Given the description of an element on the screen output the (x, y) to click on. 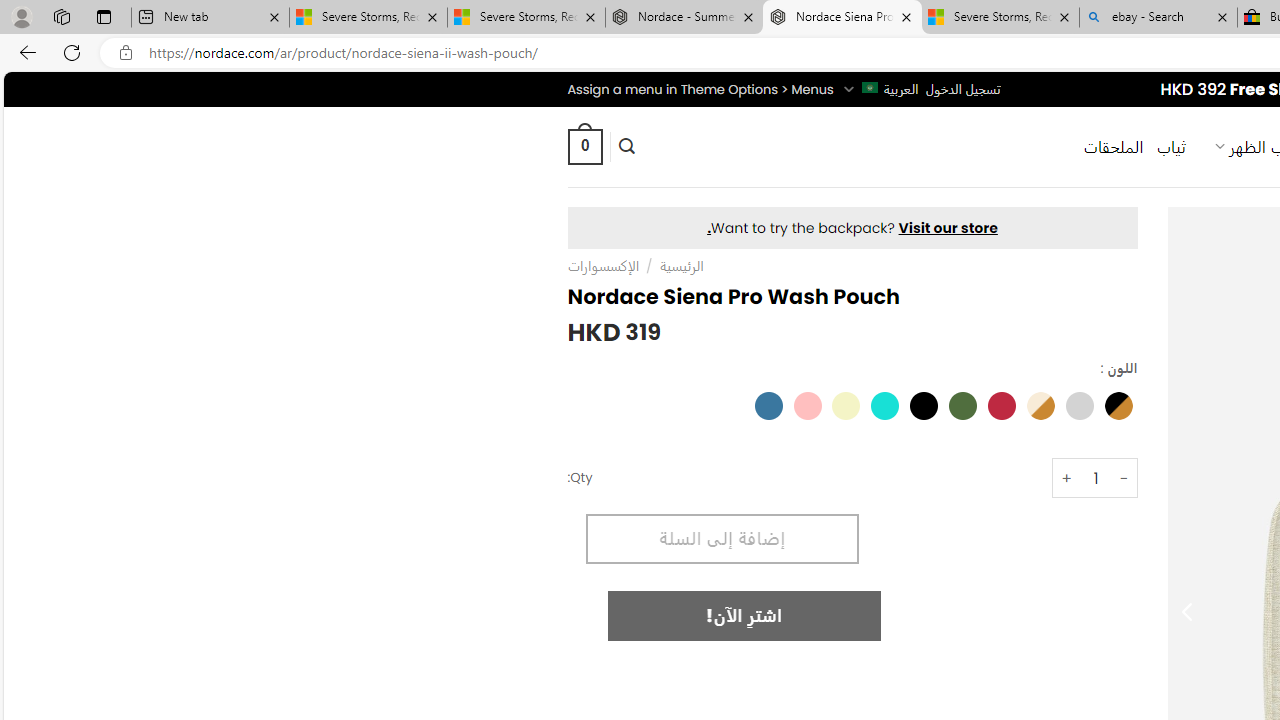
 0  (584, 146)
